Given the description of an element on the screen output the (x, y) to click on. 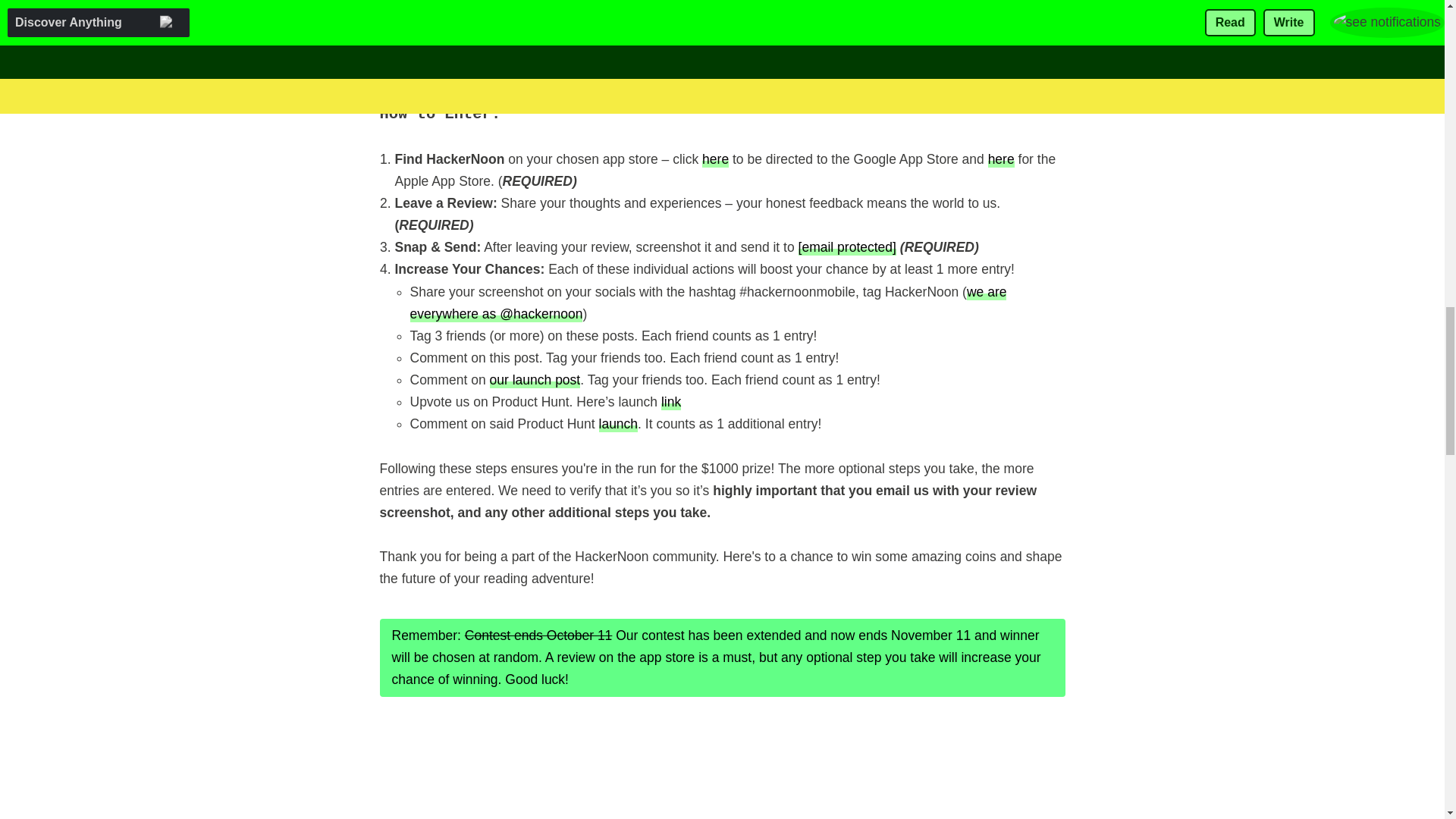
launch (618, 423)
here (715, 158)
link (671, 401)
our launch post (534, 379)
here (1001, 158)
